Given the description of an element on the screen output the (x, y) to click on. 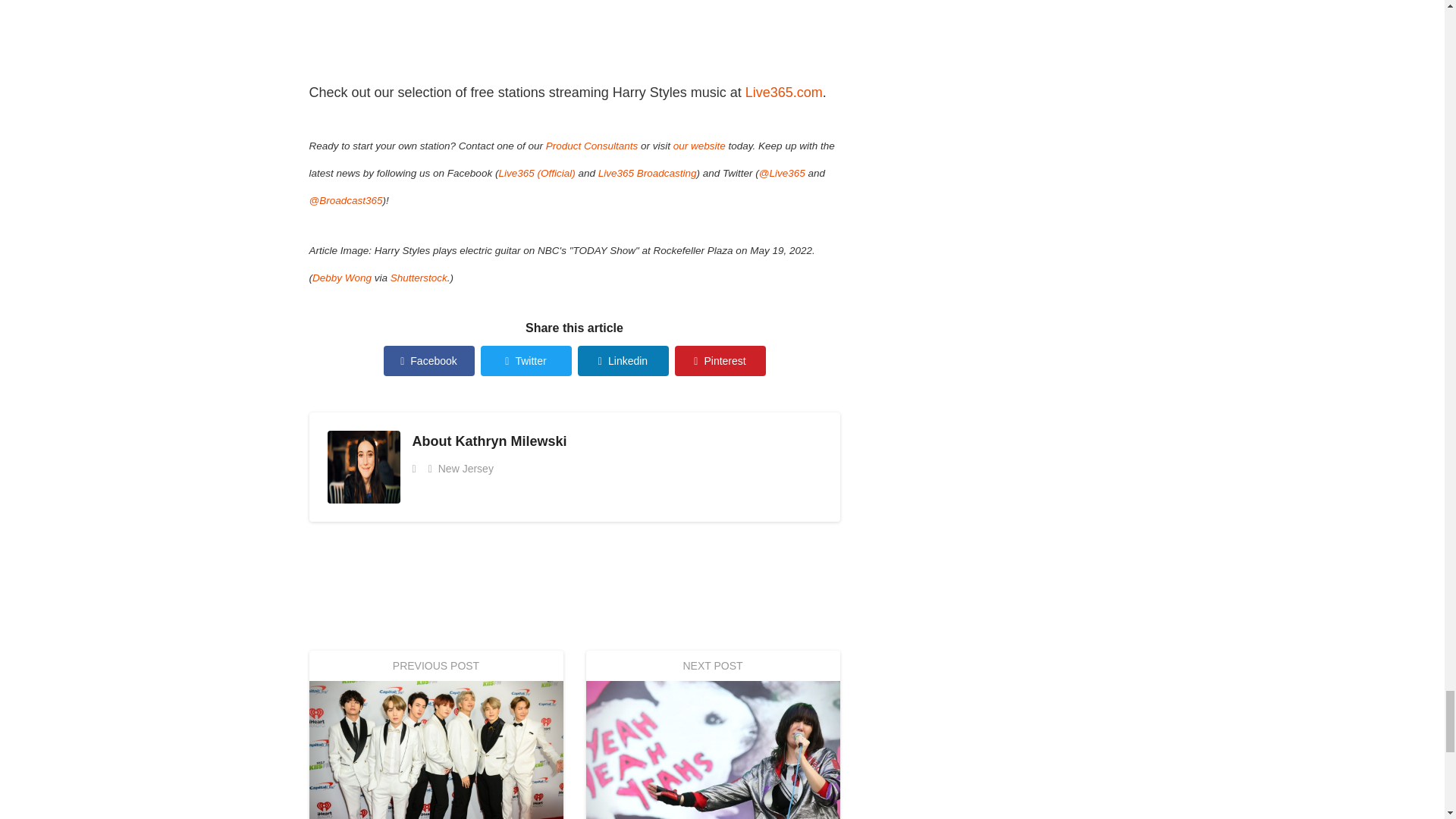
Share on Linkedin (623, 360)
Linkedin (623, 360)
Twitter (526, 360)
Live365.com (783, 92)
Shutterstock (418, 277)
Kathryn Milewski (510, 441)
Share on Twitter (526, 360)
Facebook (429, 360)
Live365 Broadcasting (647, 173)
Share on Pinterest (720, 360)
YouTube video player (520, 34)
Share on Facebook (429, 360)
Pinterest (720, 360)
Debby Wong (342, 277)
our website (698, 145)
